Given the description of an element on the screen output the (x, y) to click on. 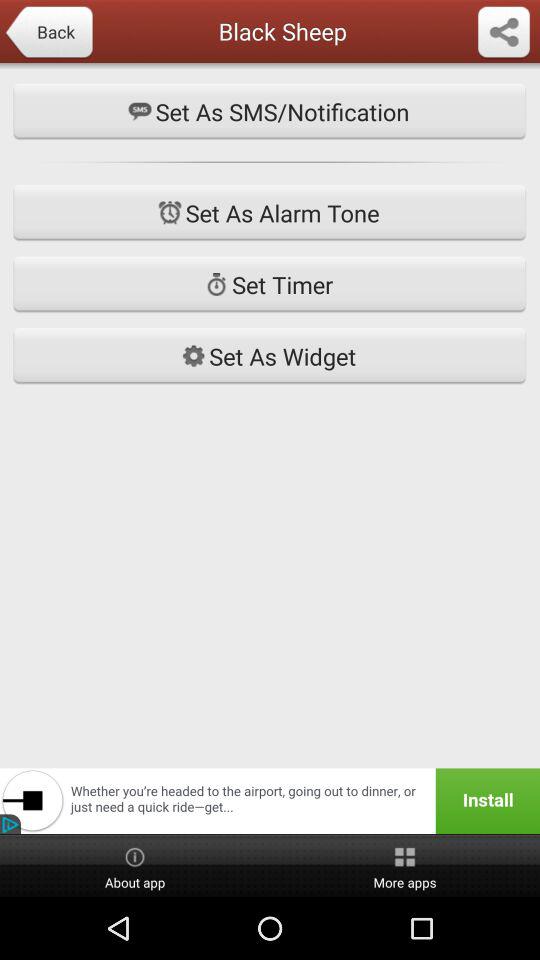
scroll to back (48, 33)
